Given the description of an element on the screen output the (x, y) to click on. 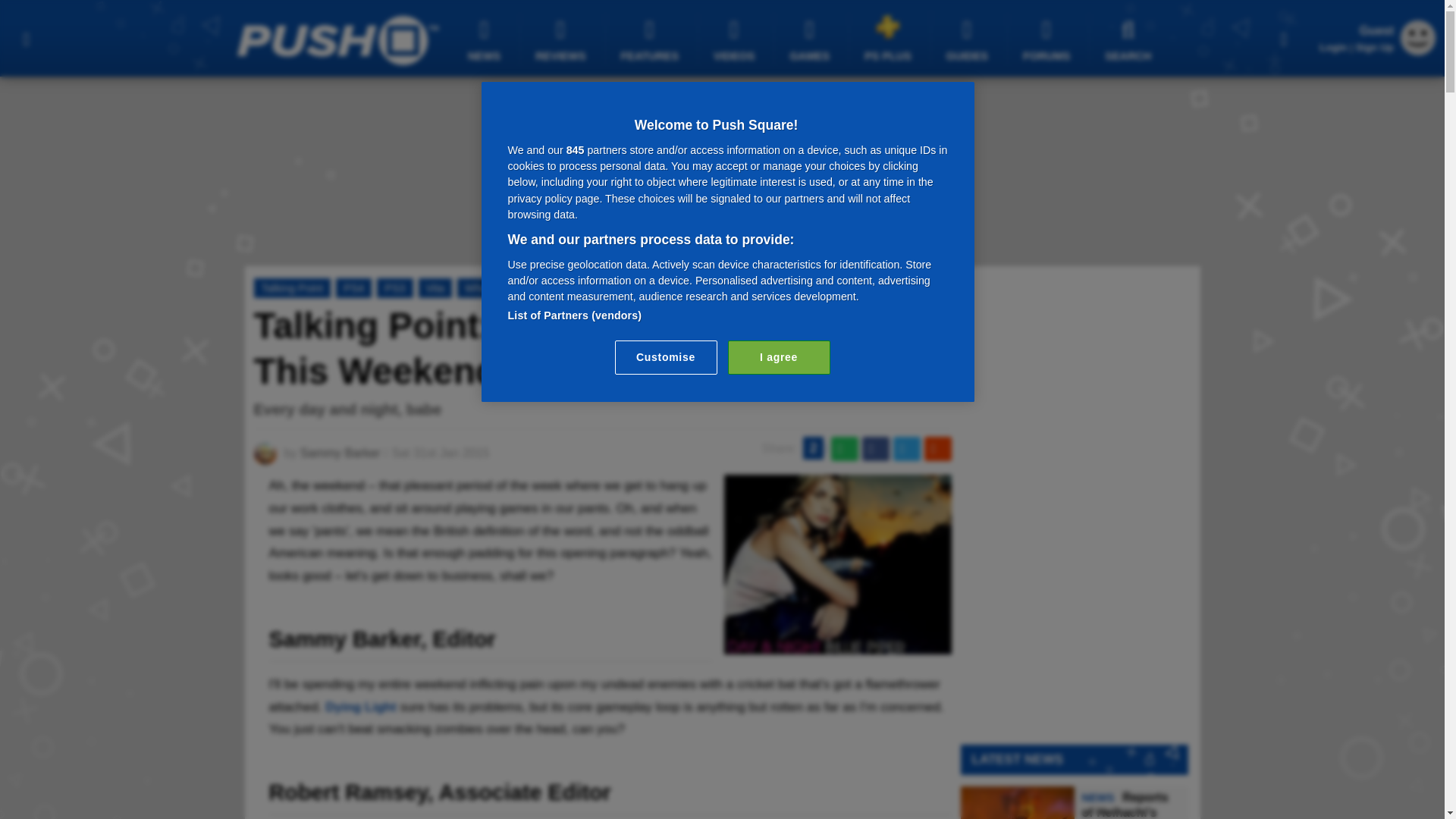
GUIDES (969, 39)
Guest (1417, 51)
Login (1332, 47)
FORUMS (1048, 39)
Push Square (336, 40)
NEWS (485, 39)
Push Square (336, 40)
PS PLUS (889, 38)
REVIEWS (562, 39)
Share This Page (1283, 37)
Guest (1417, 37)
VIDEOS (736, 39)
FEATURES (651, 39)
Sign Up (1374, 47)
SEARCH (1129, 39)
